Given the description of an element on the screen output the (x, y) to click on. 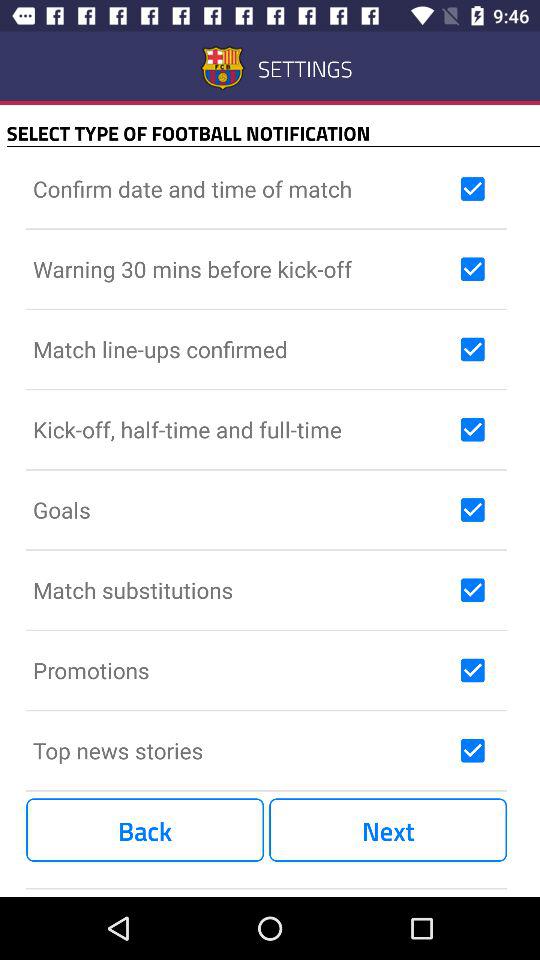
toggle select option (472, 349)
